Given the description of an element on the screen output the (x, y) to click on. 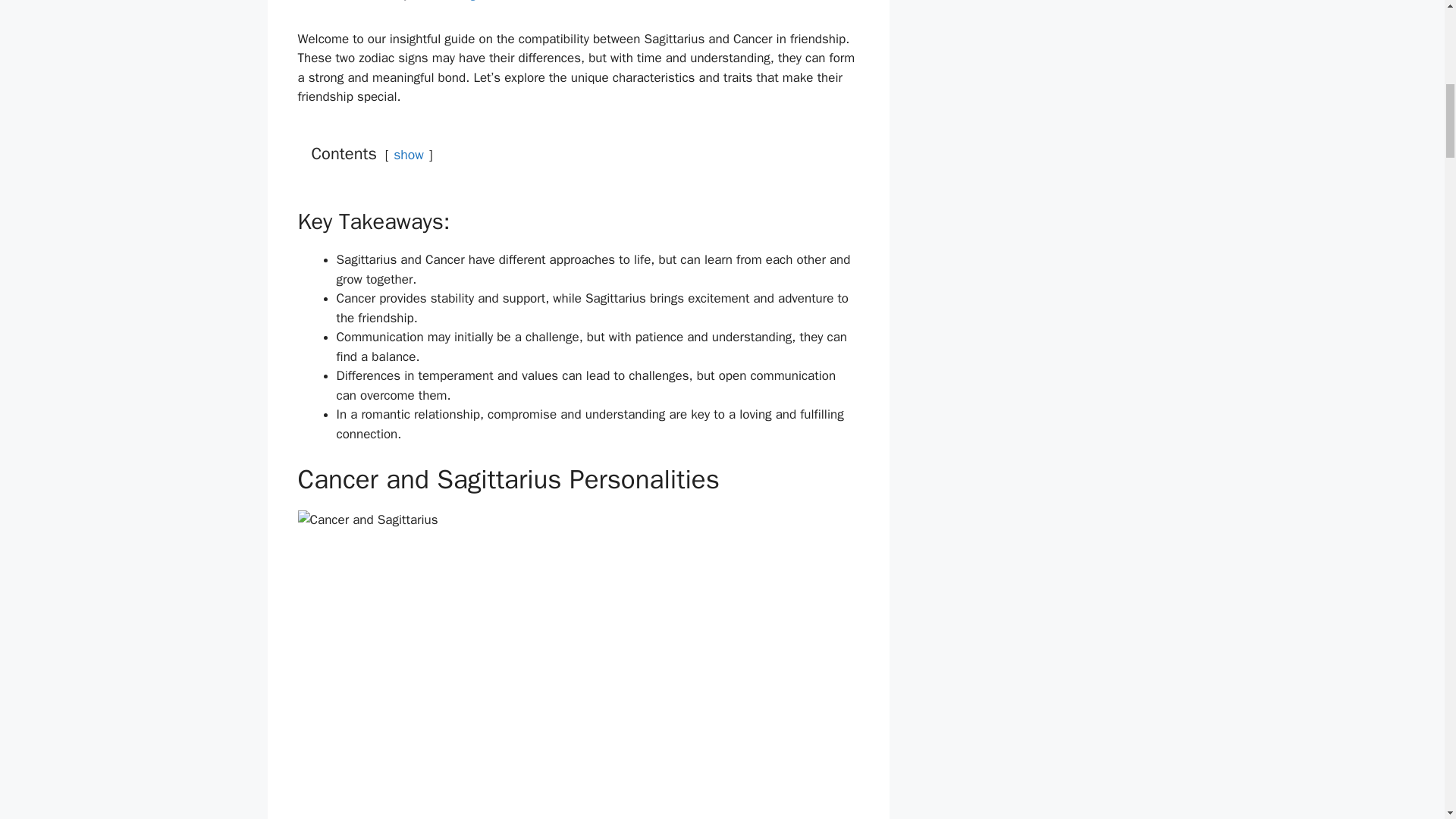
show (408, 154)
VibrationSurge (446, 0)
View all posts by VibrationSurge (446, 0)
